Given the description of an element on the screen output the (x, y) to click on. 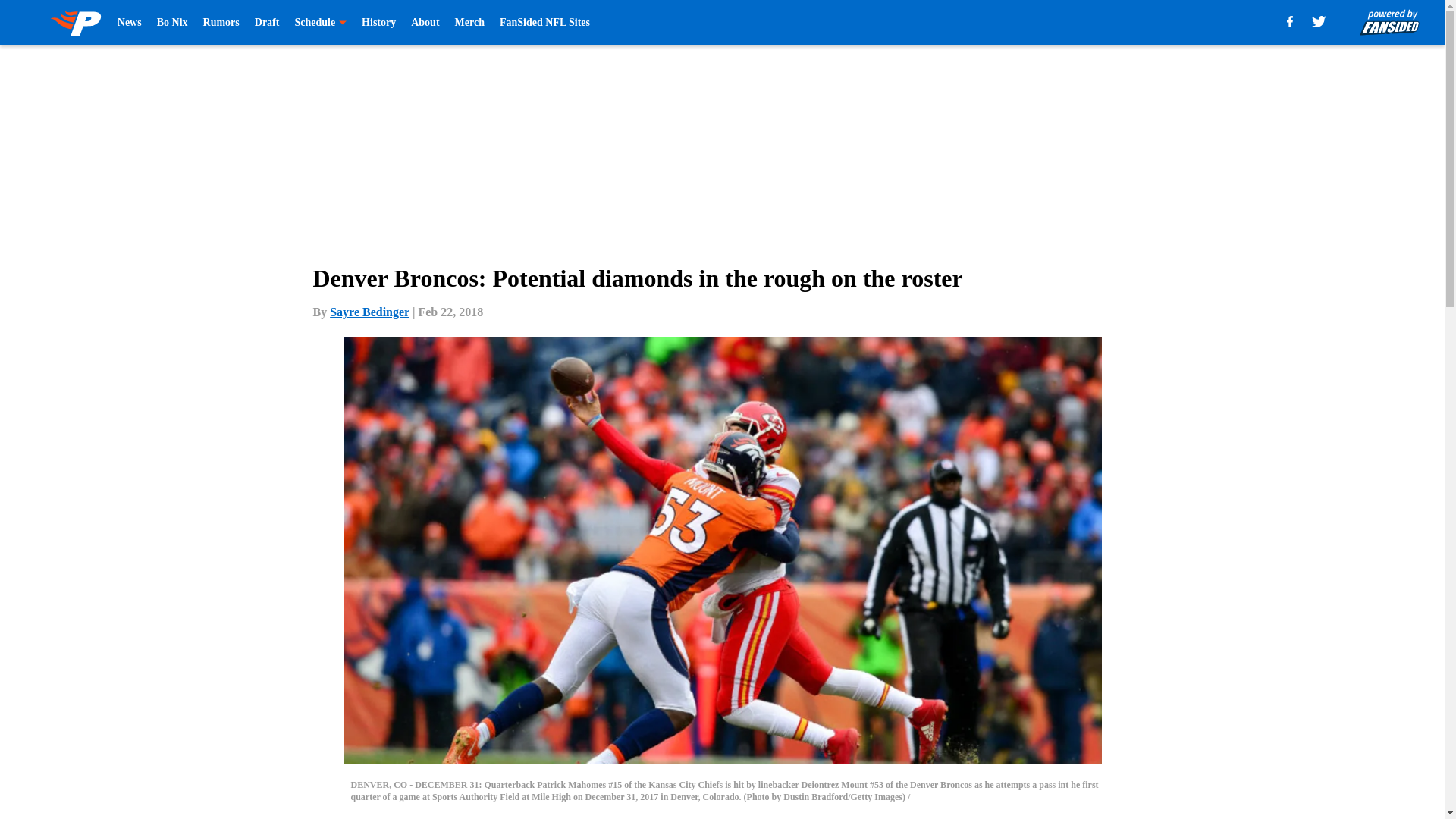
History (378, 22)
About (424, 22)
Sayre Bedinger (369, 311)
Rumors (221, 22)
Merch (469, 22)
Bo Nix (172, 22)
FanSided NFL Sites (544, 22)
News (129, 22)
Draft (266, 22)
